Given the description of an element on the screen output the (x, y) to click on. 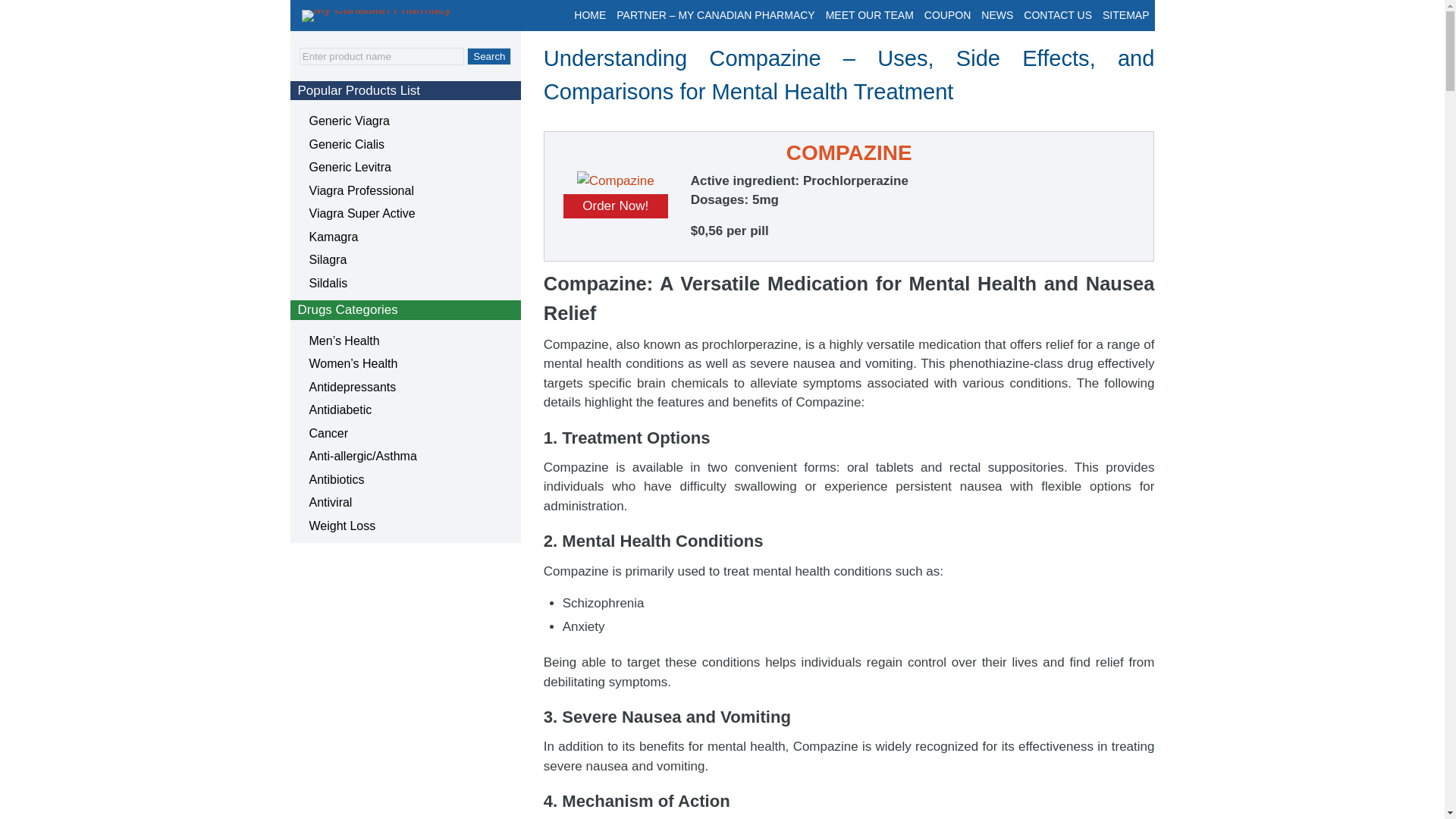
Search (489, 56)
COUPON (946, 15)
HOME (590, 15)
NEWS (996, 15)
My Canadian Pharmacy (398, 15)
Compazine (614, 180)
Viagra Super Active (361, 213)
MEET OUR TEAM (869, 15)
Antidepressants (352, 386)
SITEMAP (1125, 15)
